Given the description of an element on the screen output the (x, y) to click on. 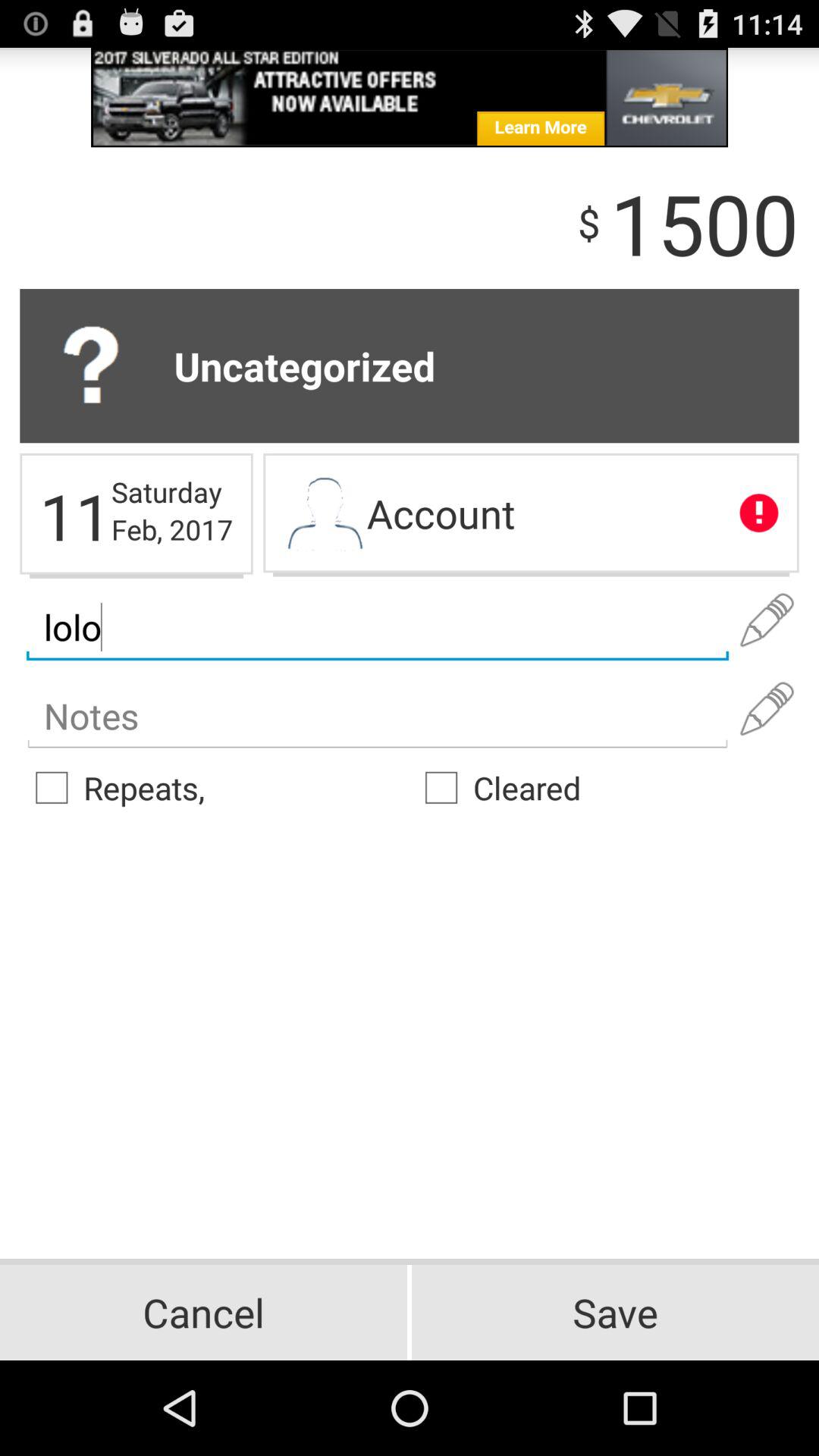
click to my account (324, 514)
